Given the description of an element on the screen output the (x, y) to click on. 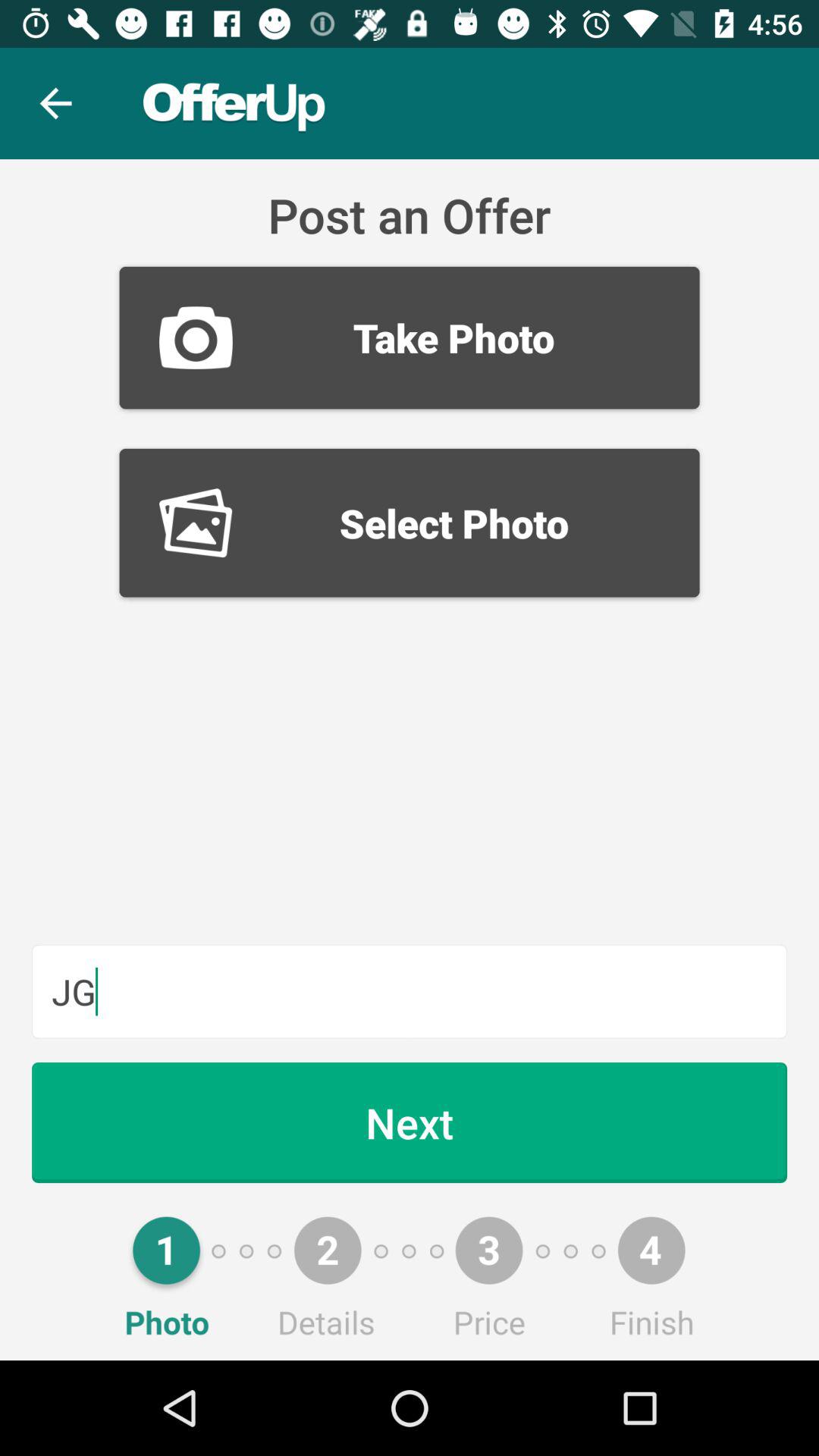
launch icon above the select photo icon (409, 337)
